Given the description of an element on the screen output the (x, y) to click on. 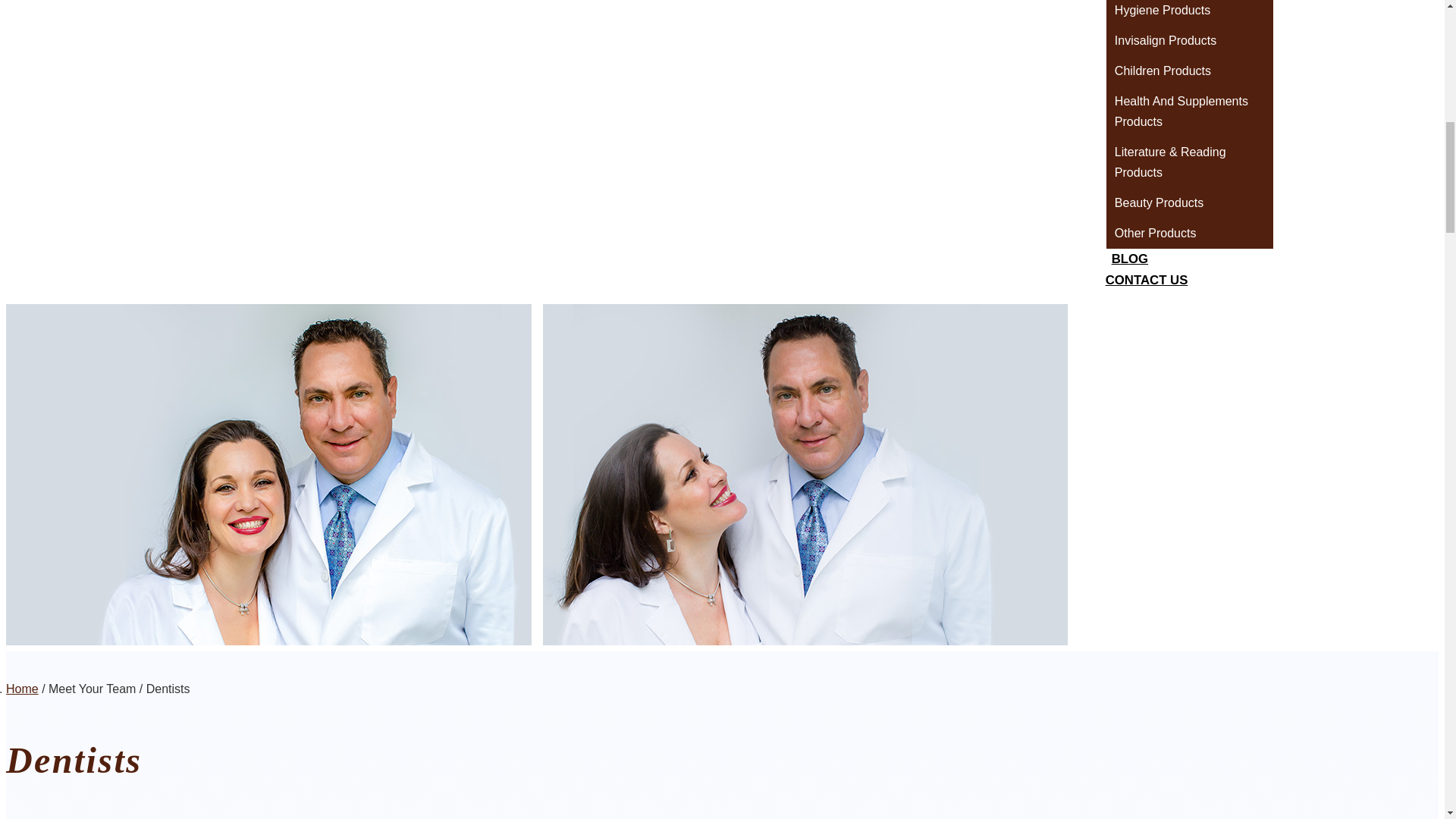
Beauty Products (1189, 203)
Children Products (1189, 71)
Hygiene Products (1189, 12)
BLOG (1129, 258)
CONTACT US (1146, 279)
Health And Supplements Products (1189, 111)
Home (22, 688)
Other Products (1189, 233)
Invisalign Products (1189, 40)
